Given the description of an element on the screen output the (x, y) to click on. 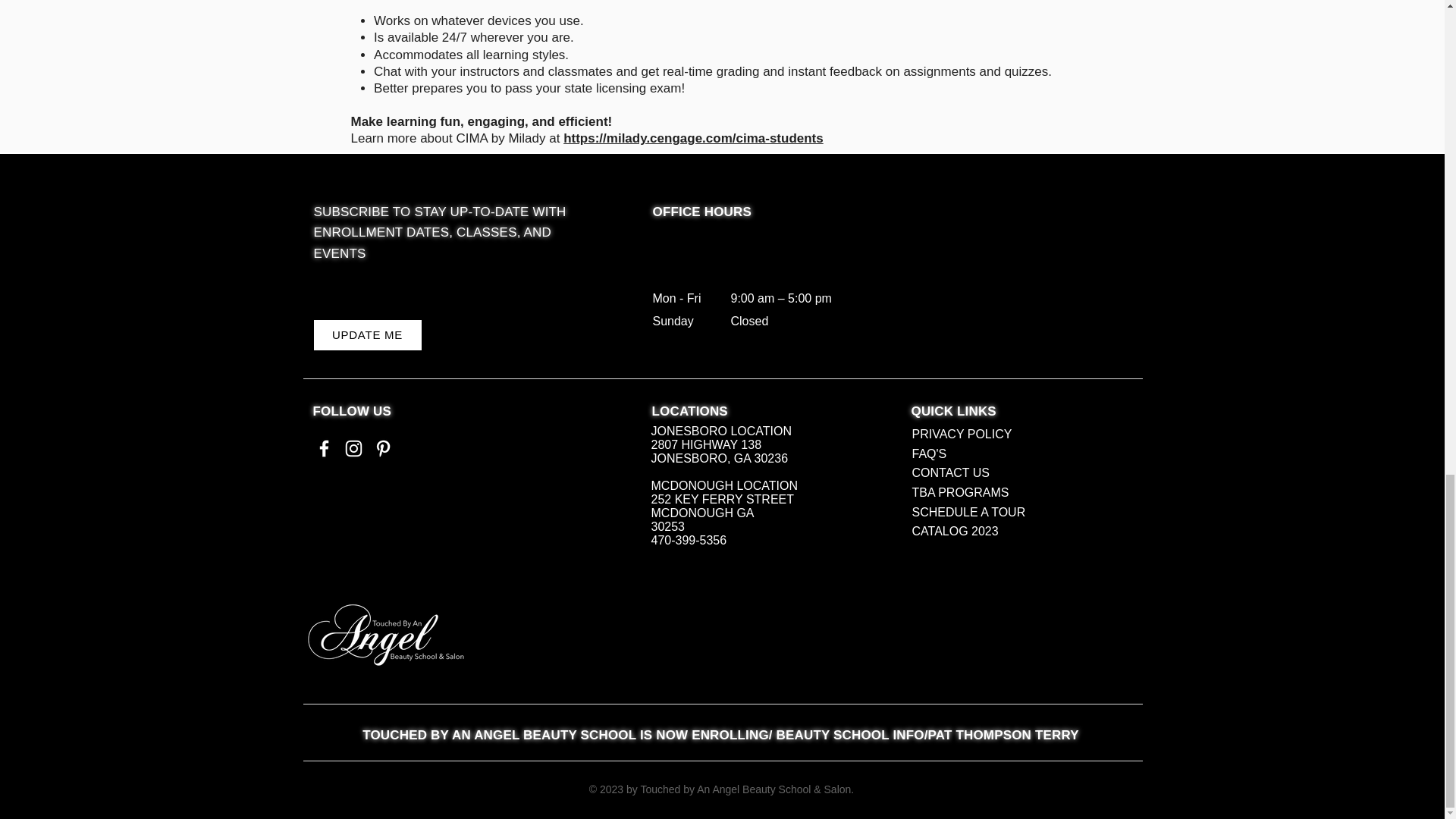
CONTACT US (950, 472)
UPDATE ME (368, 335)
SCHEDULE A TOUR (968, 512)
FAQ'S (928, 453)
PRIVACY POLICY (961, 433)
TBA PROGRAMS (960, 492)
CATALOG 2023 (954, 530)
